Given the description of an element on the screen output the (x, y) to click on. 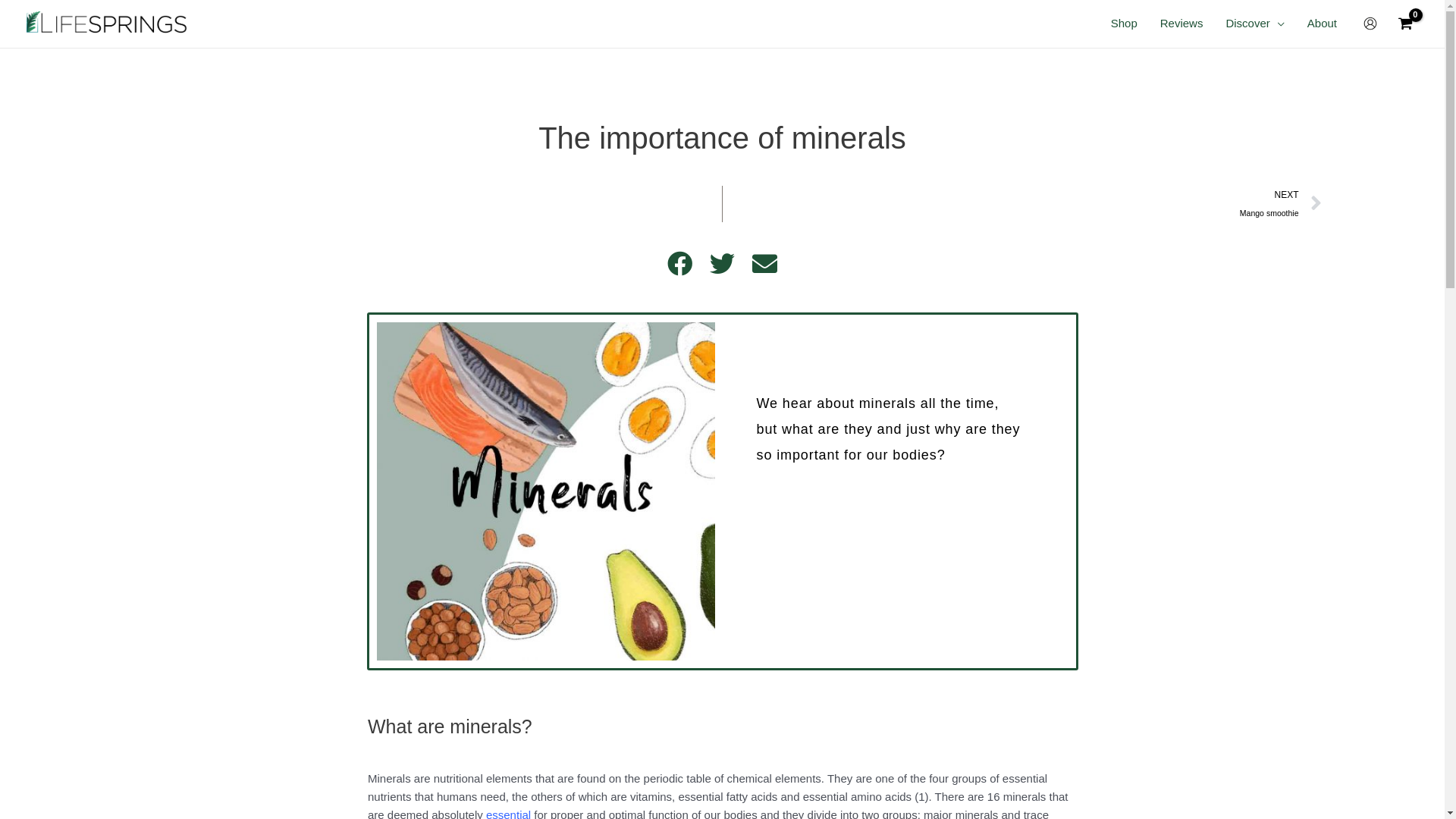
NEXT
Mango smoothie Element type: text (1021, 203)
About Element type: text (1321, 23)
Discover Element type: text (1254, 23)
Shop Element type: text (1123, 23)
Reviews Element type: text (1181, 23)
The importance of minerals Element type: hover (545, 491)
